Given the description of an element on the screen output the (x, y) to click on. 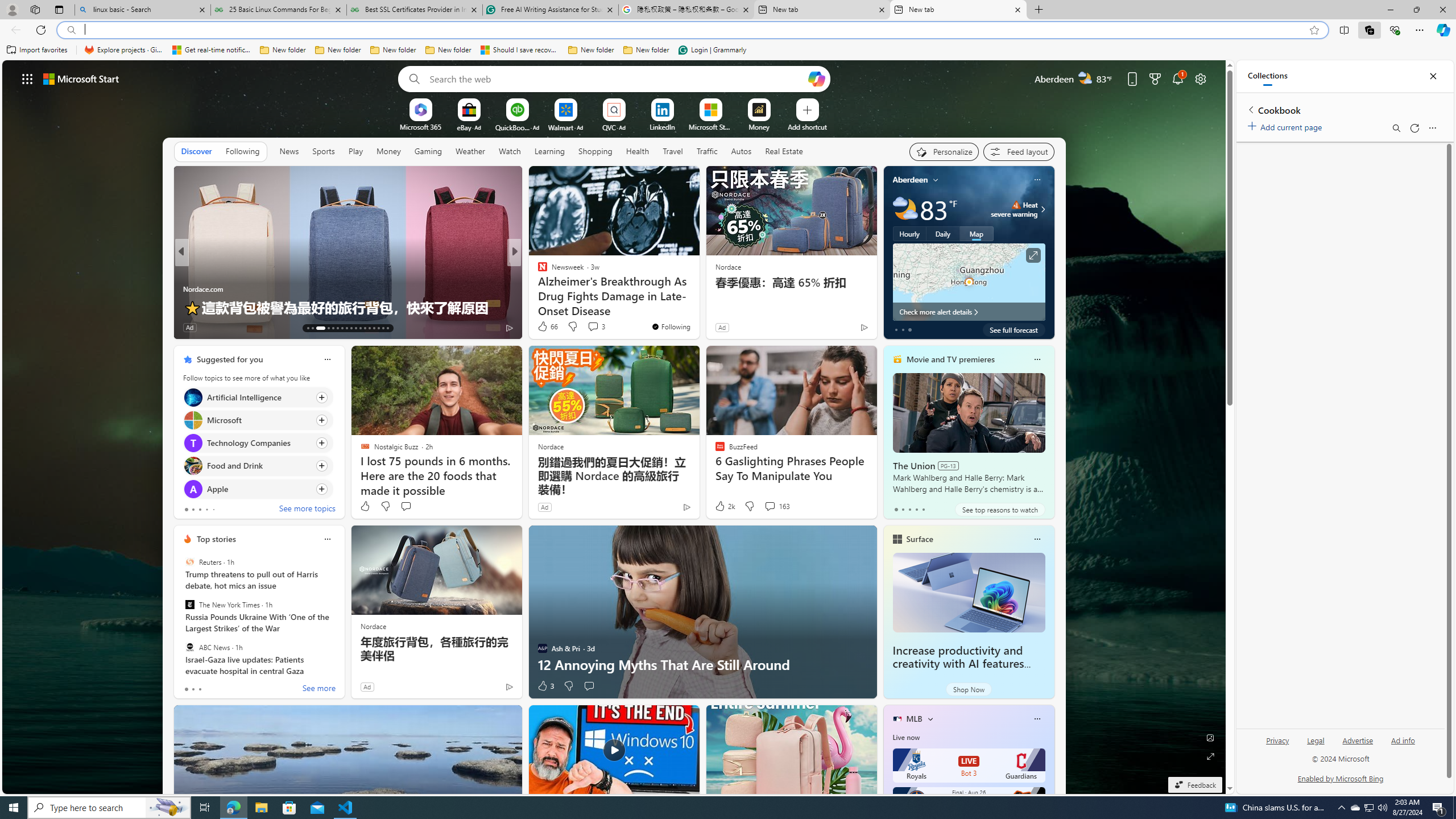
Shopping (594, 151)
Microsoft rewards (1155, 78)
Real Estate (783, 151)
Play (355, 151)
Partly cloudy (904, 208)
Class: icon-img (1037, 718)
Ad info (1402, 745)
AutomationID: tab-17 (332, 328)
View comments 1 Comment (588, 327)
